Given the description of an element on the screen output the (x, y) to click on. 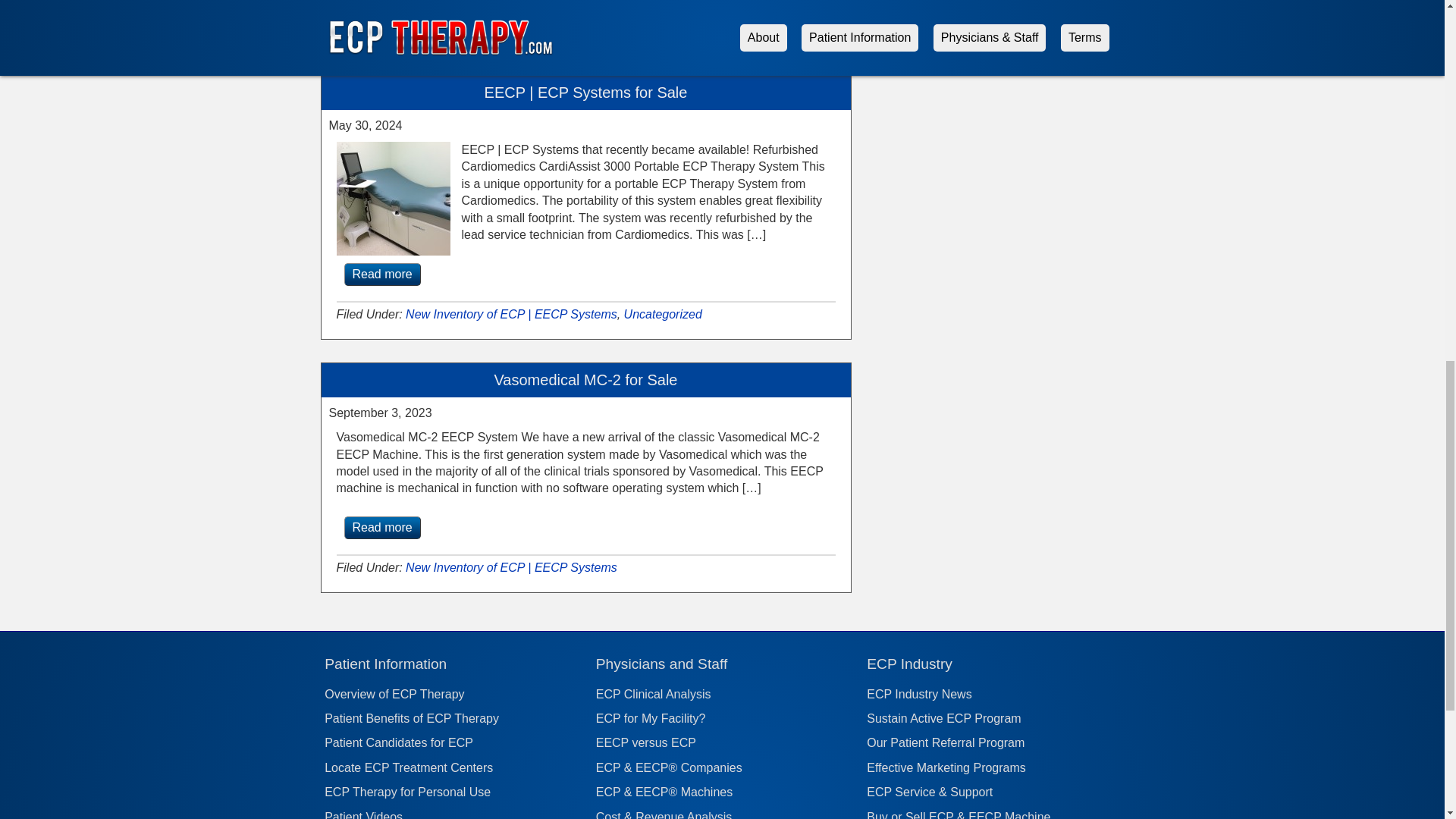
Patient Information (385, 663)
Read more (381, 273)
ECP Clinical Analysis (725, 694)
Patient Videos (453, 814)
ECP Industry (909, 663)
Read more (381, 527)
ECP Therapy for Personal Use (407, 791)
Overview of ECP Therapy (453, 694)
EECP versus ECP (645, 742)
ECP Industry News (995, 694)
